Given the description of an element on the screen output the (x, y) to click on. 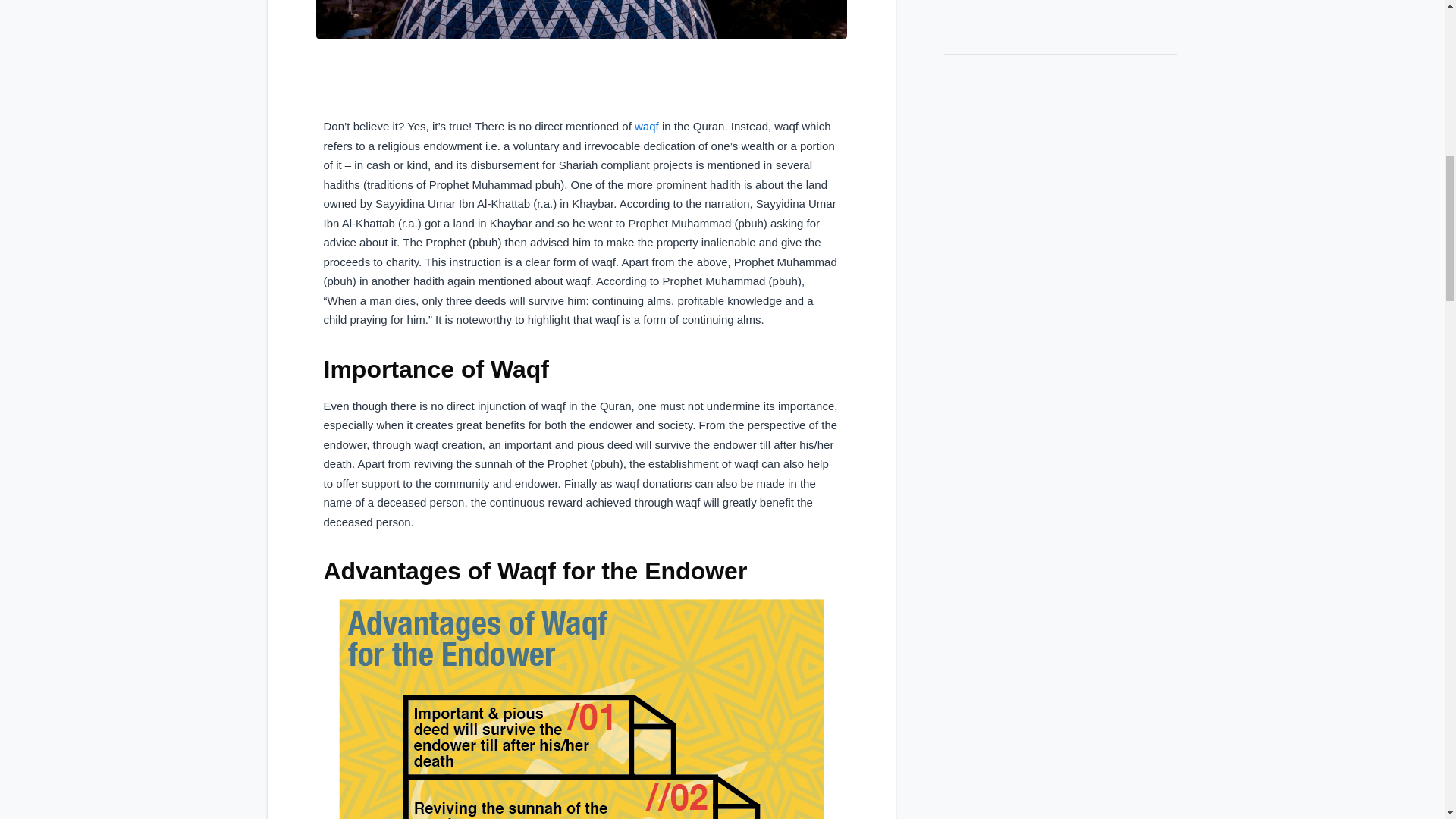
waqf (645, 125)
